Given the description of an element on the screen output the (x, y) to click on. 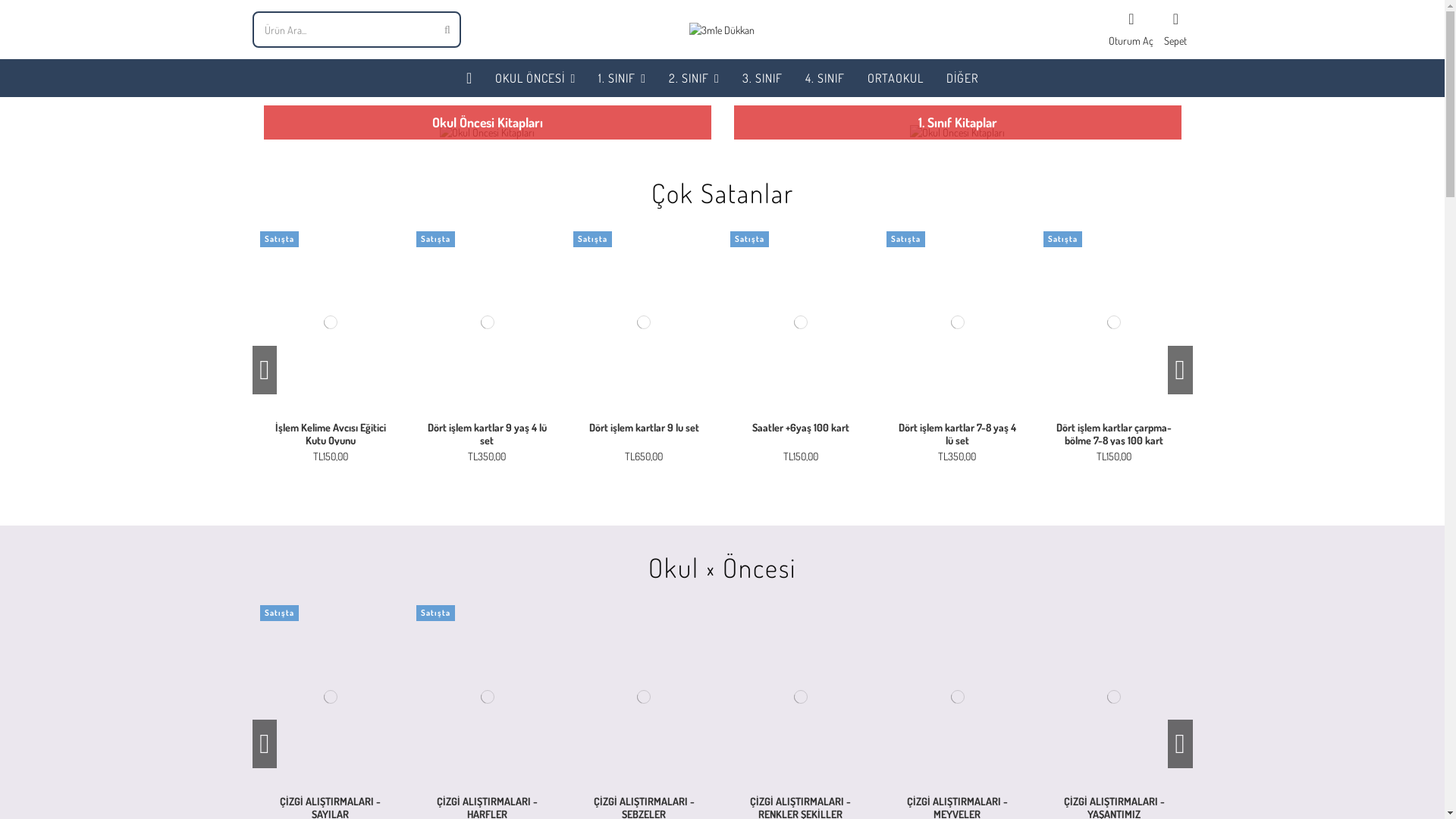
TL150,00 Element type: text (1113, 455)
2. SINIF Element type: text (694, 78)
TL150,00 Element type: text (800, 455)
1. SINIF Element type: text (621, 78)
TL150,00 Element type: text (330, 455)
TL650,00 Element type: text (643, 455)
ORTAOKUL Element type: text (895, 78)
TL350,00 Element type: text (956, 455)
TL350,00 Element type: text (486, 455)
4. SINIF Element type: text (824, 78)
3. SINIF Element type: text (762, 78)
Sepet Element type: text (1175, 29)
